Given the description of an element on the screen output the (x, y) to click on. 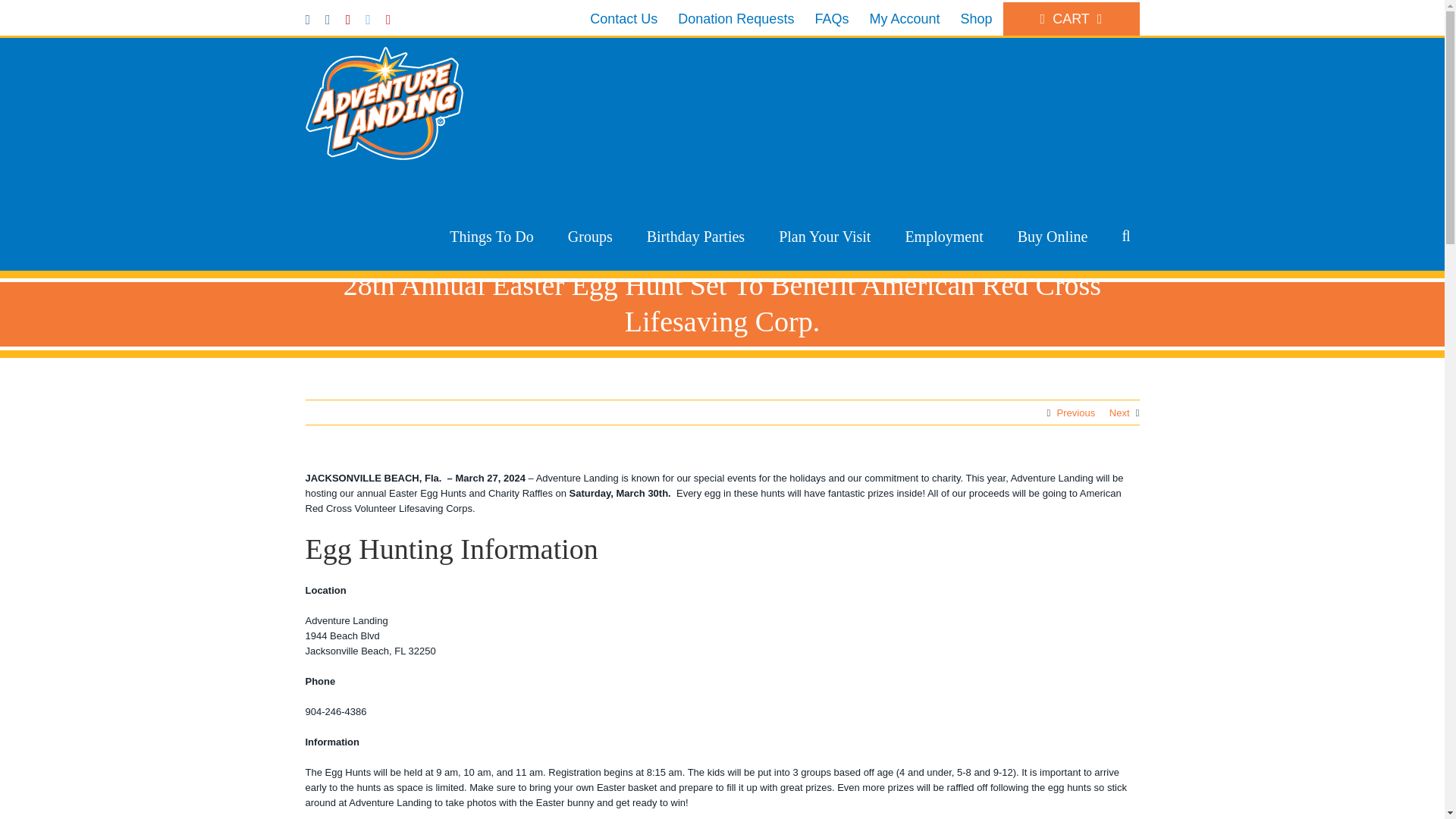
My Account (904, 19)
Things To Do (490, 236)
Contact Us (622, 19)
Donation Requests (735, 19)
FAQs (832, 19)
CART (1070, 19)
Shop (975, 19)
